Given the description of an element on the screen output the (x, y) to click on. 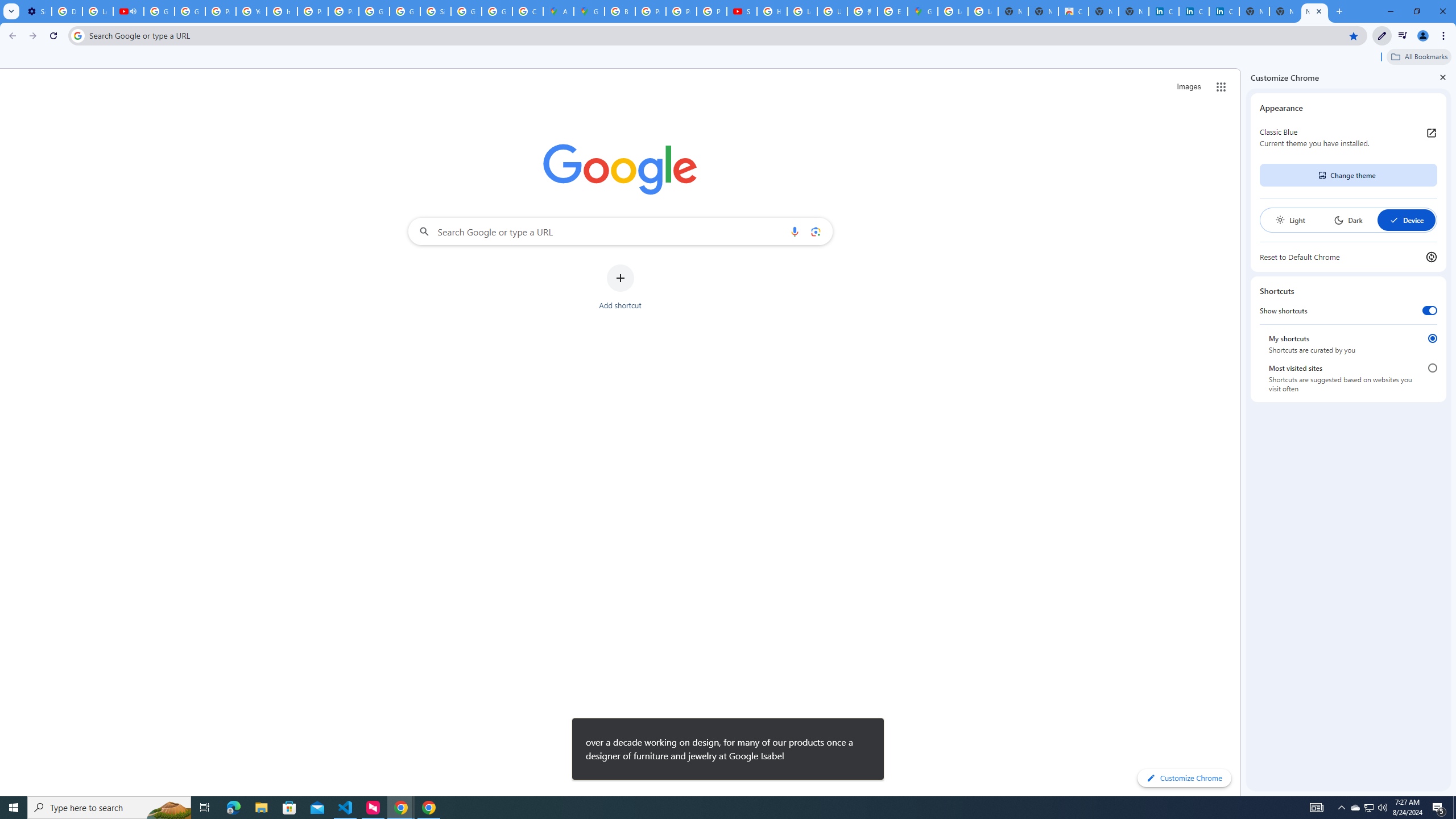
Sign in - Google Accounts (434, 11)
Privacy Help Center - Policies Help (312, 11)
Copyright Policy (1224, 11)
Cookie Policy | LinkedIn (1193, 11)
Show shortcuts (1429, 310)
Explore new street-level details - Google Maps Help (892, 11)
Google Maps (589, 11)
Subscriptions - YouTube (741, 11)
